Given the description of an element on the screen output the (x, y) to click on. 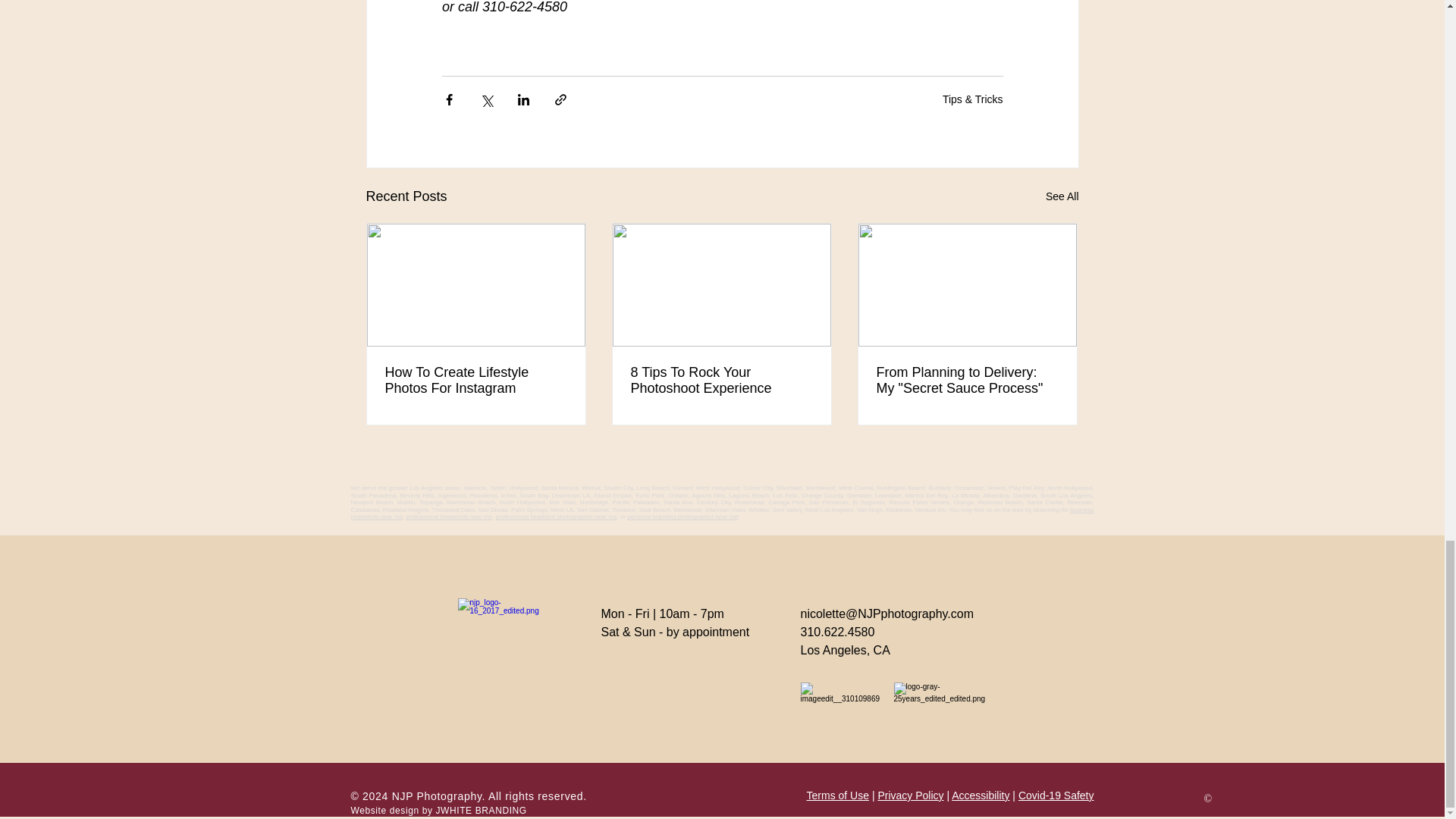
How To Create Lifestyle Photos For Instagram (476, 380)
See All (1061, 196)
From Planning to Delivery: My "Secret Sauce Process" (967, 380)
business headshots near me (721, 513)
8 Tips To Rock Your Photoshoot Experience (721, 380)
personal branding photographer near me (681, 516)
professional headshots near me (449, 516)
professional headshot photographer near me (556, 516)
